Given the description of an element on the screen output the (x, y) to click on. 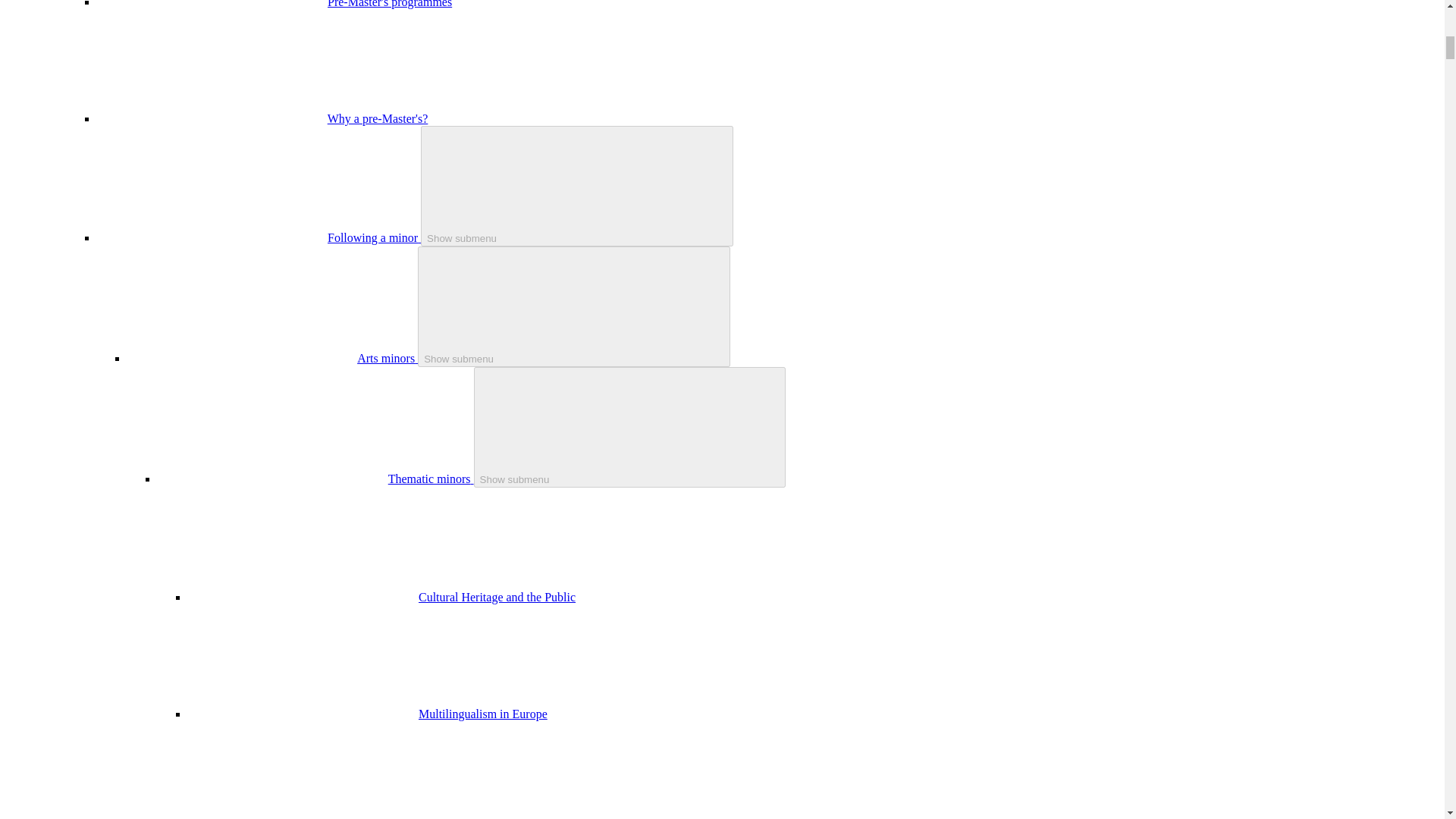
Pre-Master's programmes (389, 4)
Why a pre-Master's? (377, 118)
